Given the description of an element on the screen output the (x, y) to click on. 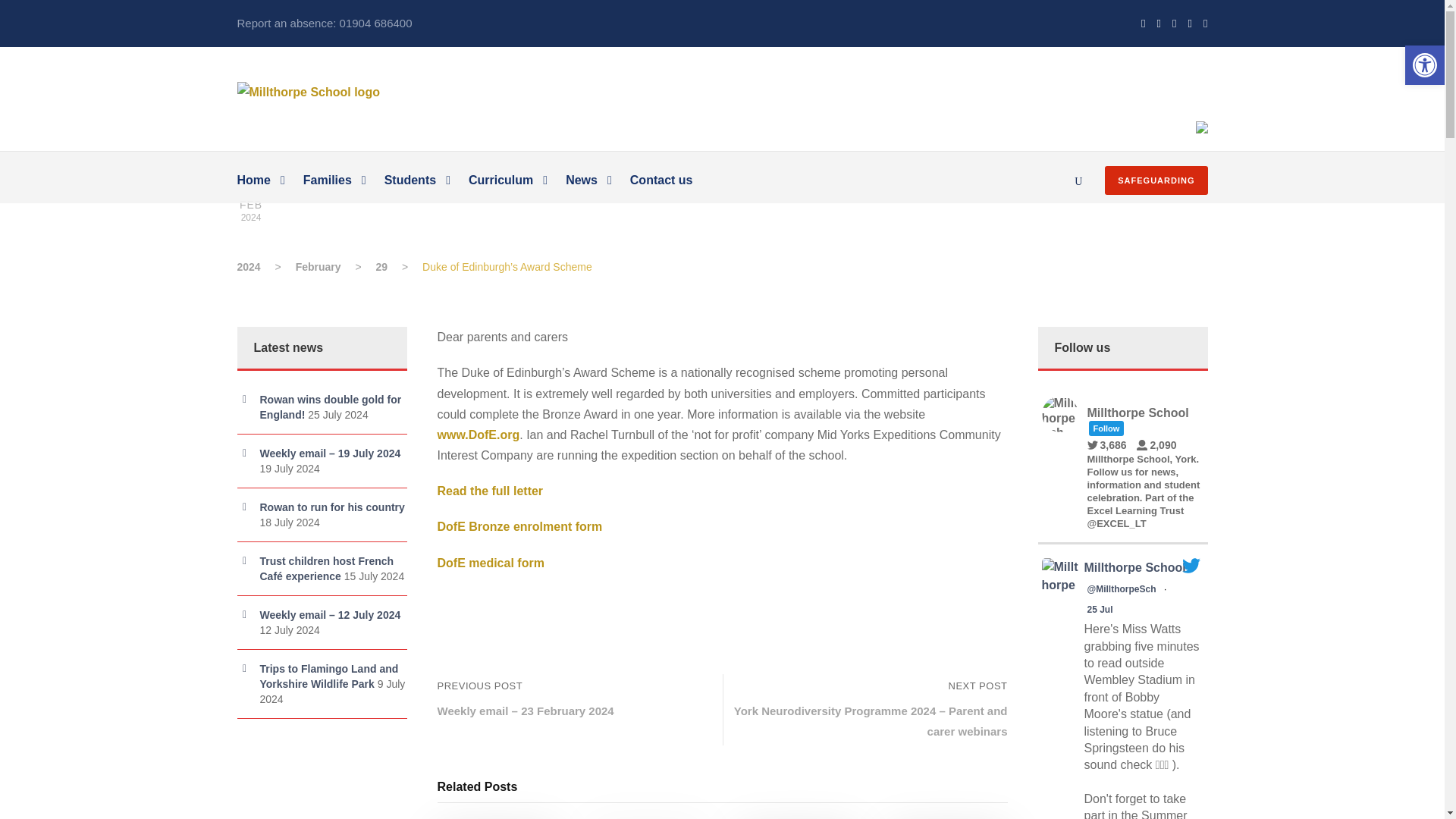
Go to the 29 archives. (381, 266)
Go to the February archives. (317, 266)
Go to the 2024 archives. (247, 266)
3,686 Tweets (1110, 444)
